Given the description of an element on the screen output the (x, y) to click on. 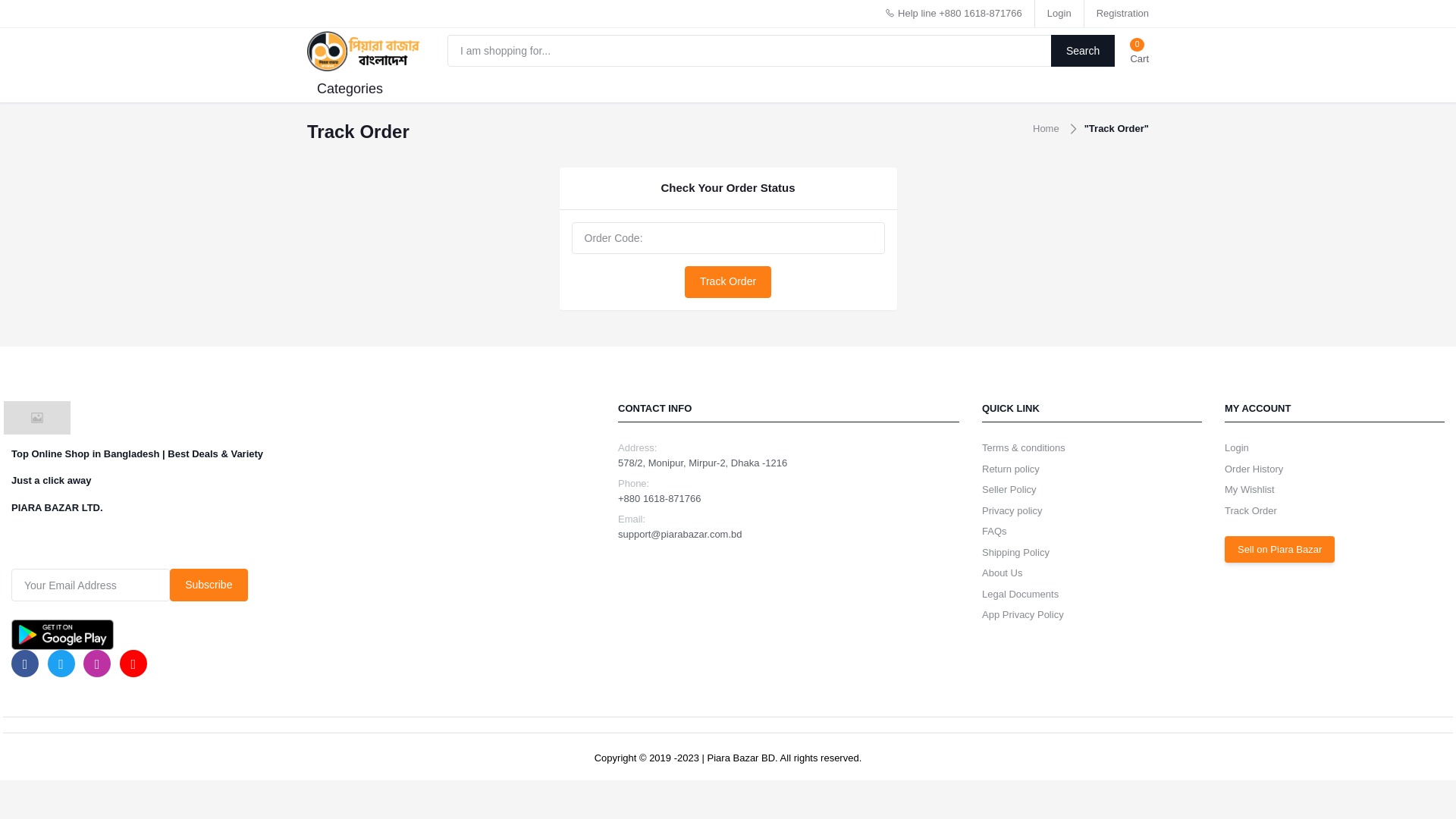
Subscribe Element type: text (208, 584)
Help line +880 1618-871766 Element type: text (952, 13)
FAQs Element type: text (994, 530)
Order History Element type: text (1253, 468)
Sell on Piara Bazar Element type: text (1279, 549)
Track Order Element type: text (1250, 510)
support@piarabazar.com.bd Element type: text (680, 533)
About Us Element type: text (1002, 572)
Shipping Policy Element type: text (1015, 552)
Seller Policy Element type: text (1009, 489)
Track Order Element type: text (727, 282)
My Wishlist Element type: text (1249, 489)
0
Cart Element type: text (1137, 50)
Home Element type: text (1045, 128)
Login Element type: text (1236, 447)
Registration Element type: text (1122, 13)
Privacy policy Element type: text (1011, 510)
Legal Documents Element type: text (1020, 593)
Terms & conditions Element type: text (1023, 447)
Return policy Element type: text (1010, 468)
Login Element type: text (1059, 13)
Search Element type: text (1083, 50)
"Track Order" Element type: text (1116, 128)
App Privacy Policy Element type: text (1022, 614)
